Given the description of an element on the screen output the (x, y) to click on. 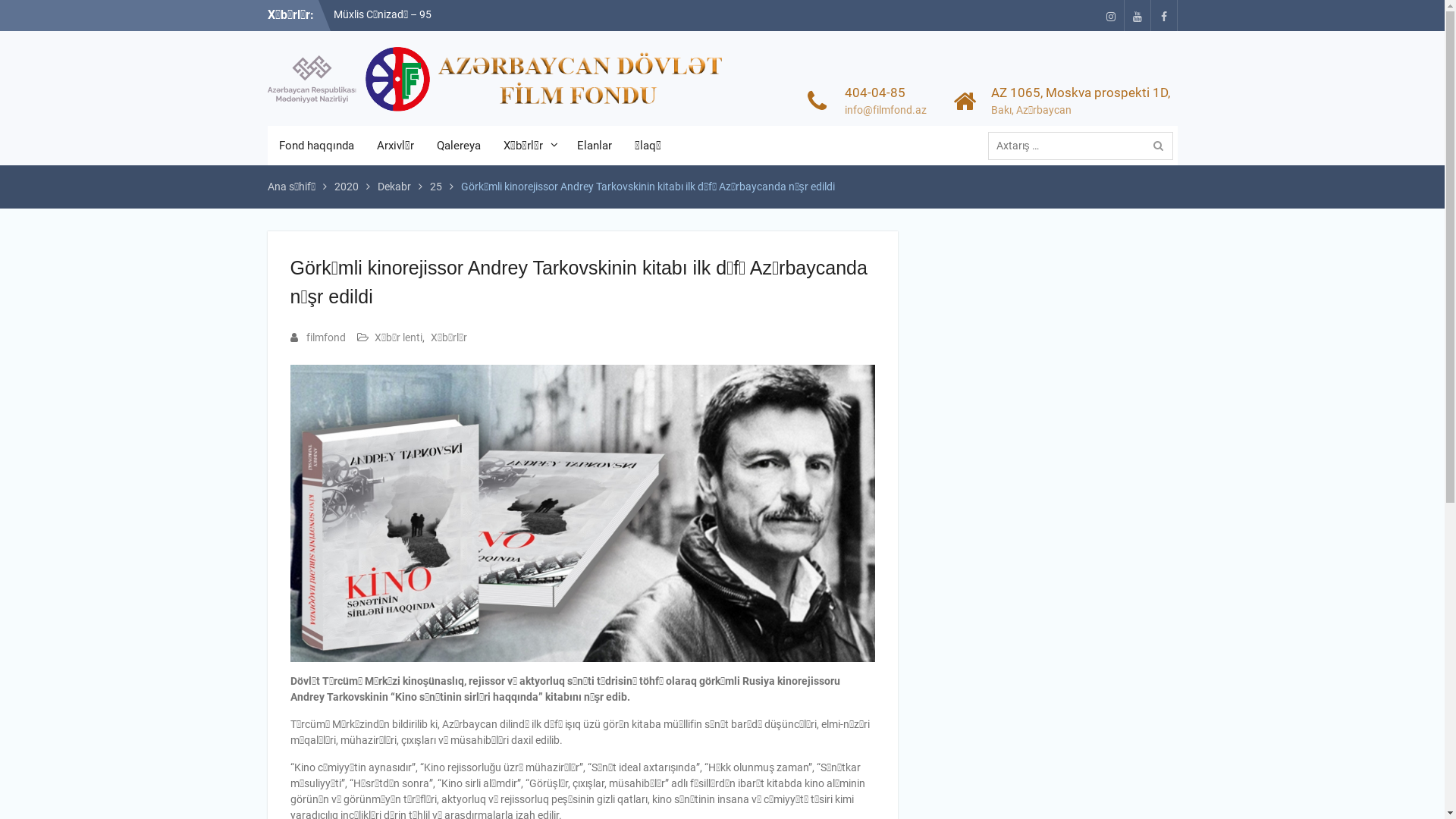
Qalereya Element type: text (457, 145)
Dekabr Element type: text (394, 186)
Youtube Element type: text (1137, 15)
info@filmfond.az Element type: text (884, 110)
instagram Element type: text (1109, 15)
Elanlar Element type: text (594, 145)
2020 Element type: text (345, 186)
filmfond Element type: text (325, 337)
facebook Element type: text (1162, 15)
404-04-85 Element type: text (884, 93)
25 Element type: text (435, 186)
